Given the description of an element on the screen output the (x, y) to click on. 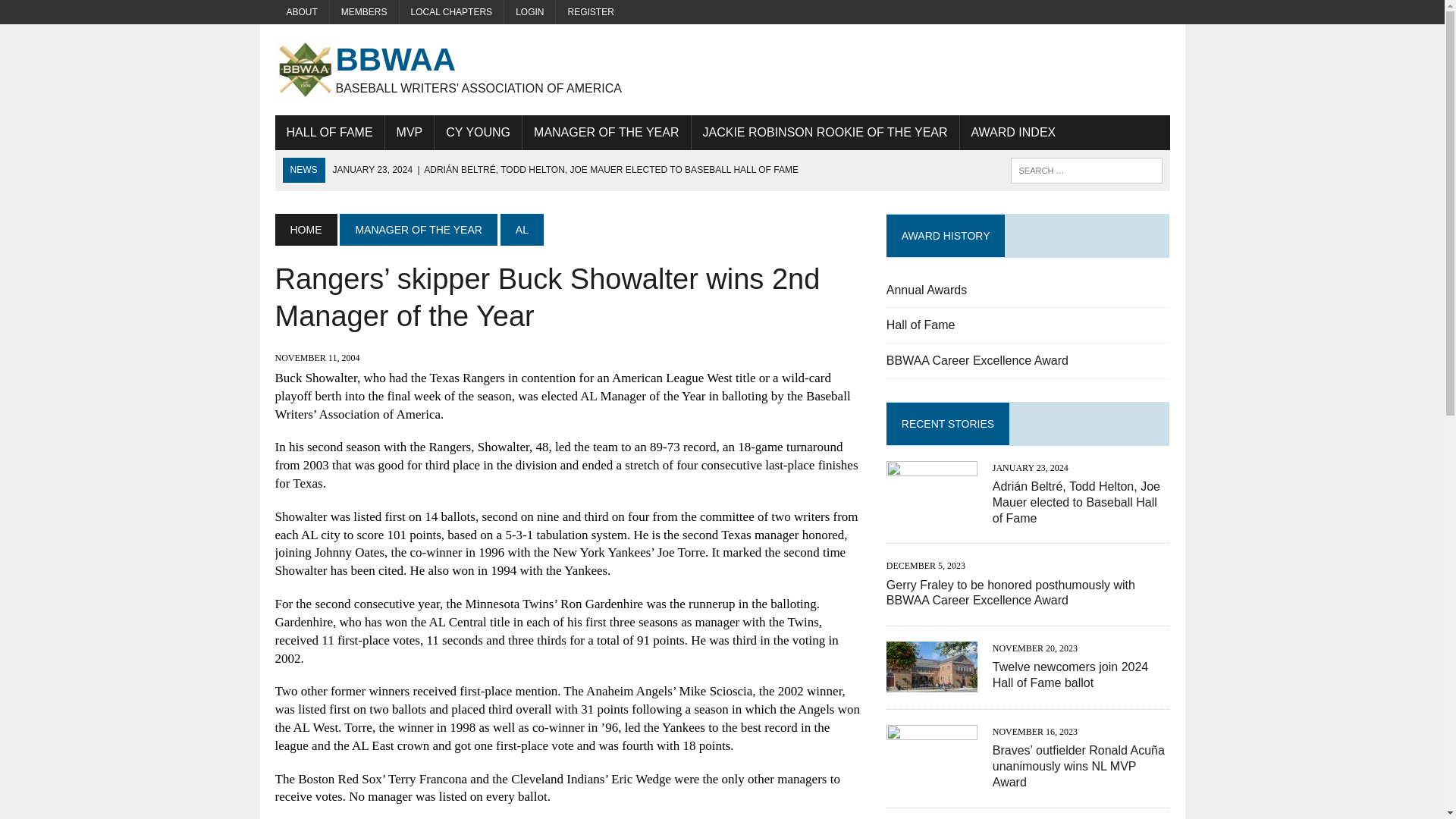
AL (521, 229)
MANAGER OF THE YEAR (418, 229)
MANAGER OF THE YEAR (606, 132)
HALL OF FAME (329, 132)
ABOUT (302, 12)
HOME (305, 229)
AWARD INDEX (1013, 132)
JACKIE ROBINSON ROOKIE OF THE YEAR (825, 132)
MEMBERS (364, 12)
MVP (409, 132)
